Given the description of an element on the screen output the (x, y) to click on. 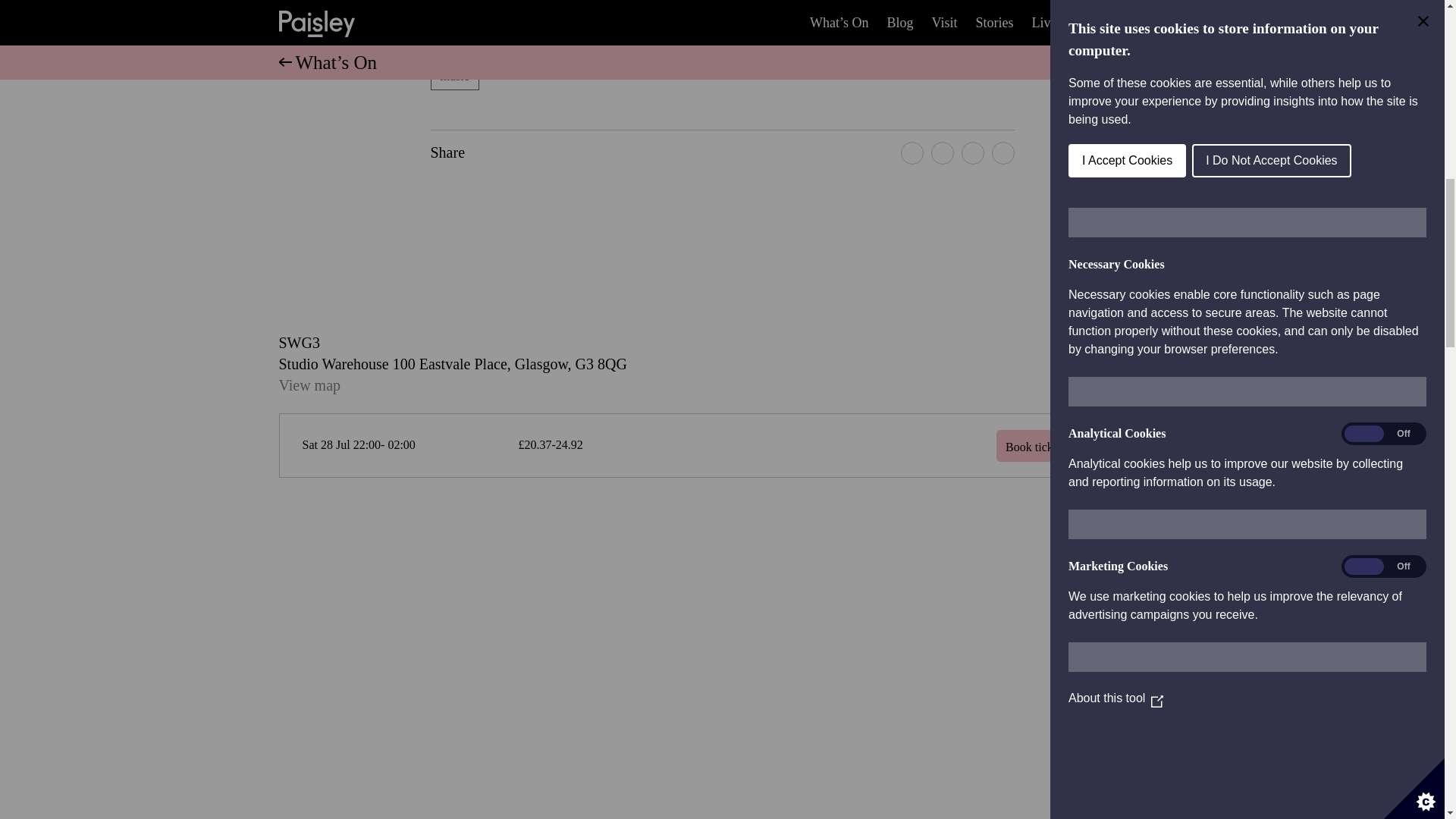
View map (309, 384)
music (454, 76)
Book tickets (1068, 445)
